Given the description of an element on the screen output the (x, y) to click on. 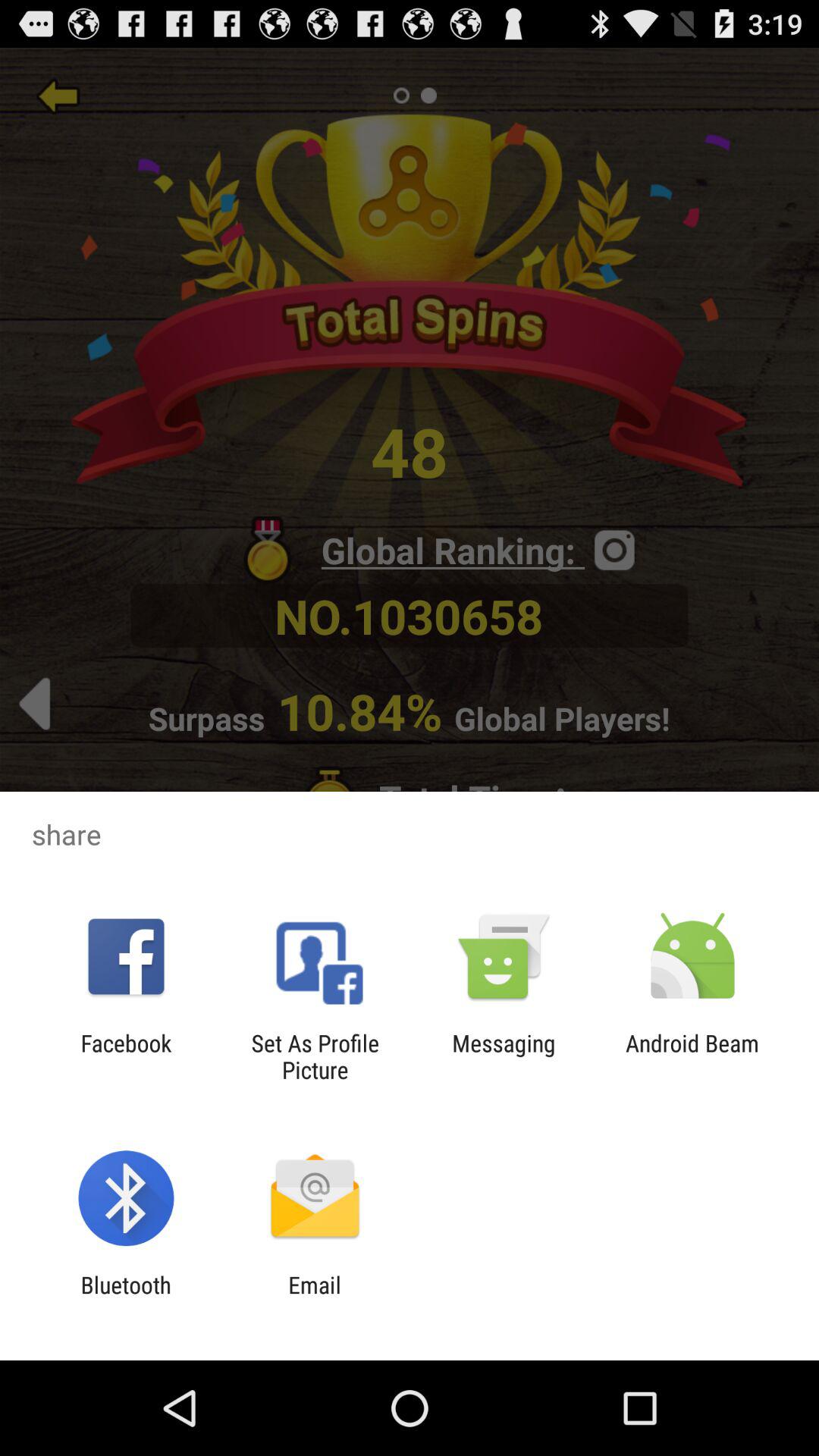
turn on icon to the right of the set as profile item (503, 1056)
